Given the description of an element on the screen output the (x, y) to click on. 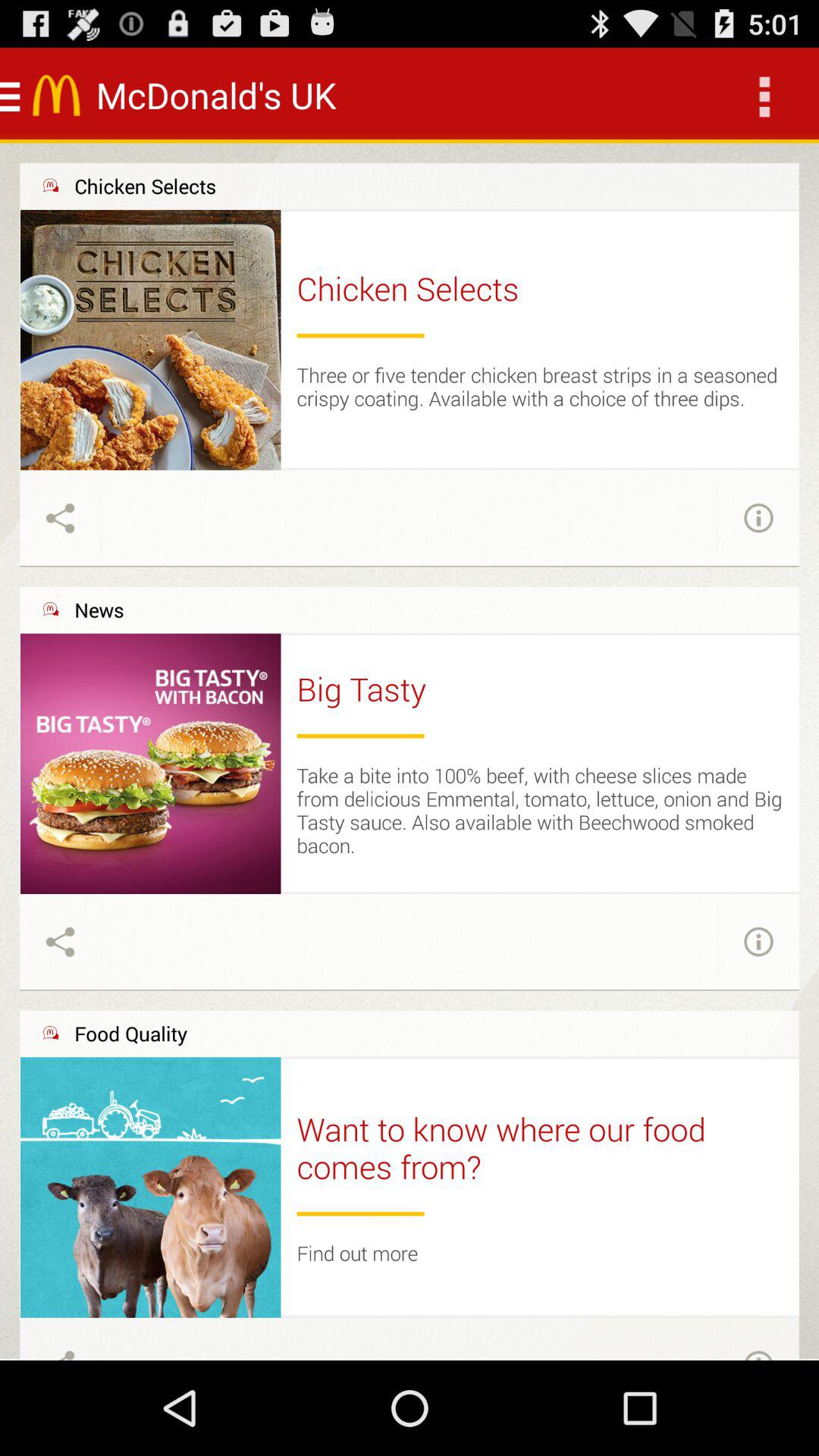
press item above take a bite (360, 736)
